Given the description of an element on the screen output the (x, y) to click on. 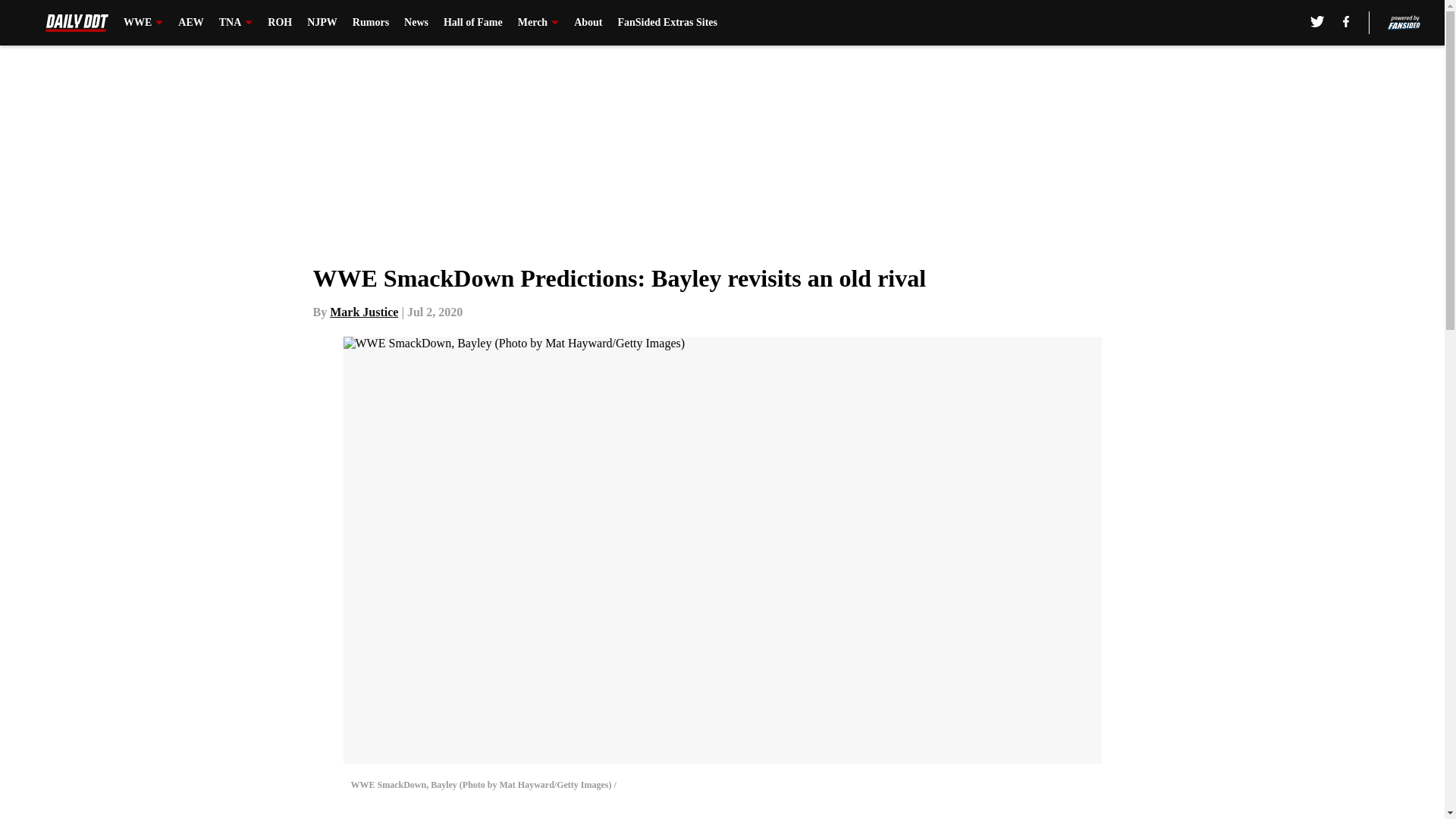
ROH (279, 22)
Rumors (370, 22)
NJPW (322, 22)
AEW (190, 22)
Hall of Fame (473, 22)
About (587, 22)
News (416, 22)
Mark Justice (363, 311)
FanSided Extras Sites (666, 22)
